Given the description of an element on the screen output the (x, y) to click on. 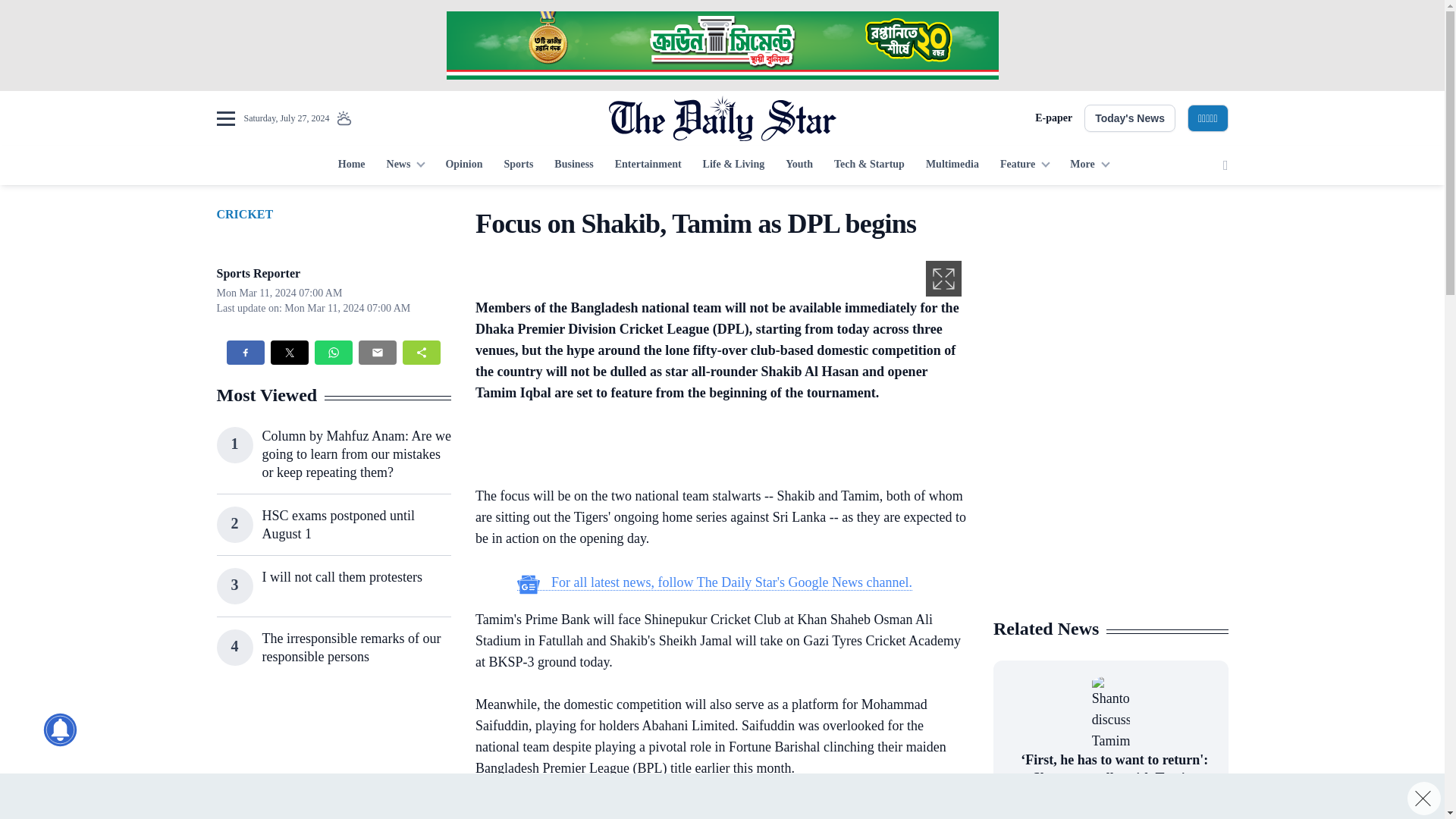
Entertainment (647, 165)
E-paper (1053, 117)
3rd party ad content (713, 809)
3rd party ad content (714, 447)
3rd party ad content (332, 758)
3rd party ad content (1110, 302)
News (405, 165)
Opinion (463, 165)
Home (351, 165)
Business (573, 165)
Today's News (1129, 117)
Sports (518, 165)
3rd party ad content (721, 45)
3rd party ad content (1110, 506)
